Given the description of an element on the screen output the (x, y) to click on. 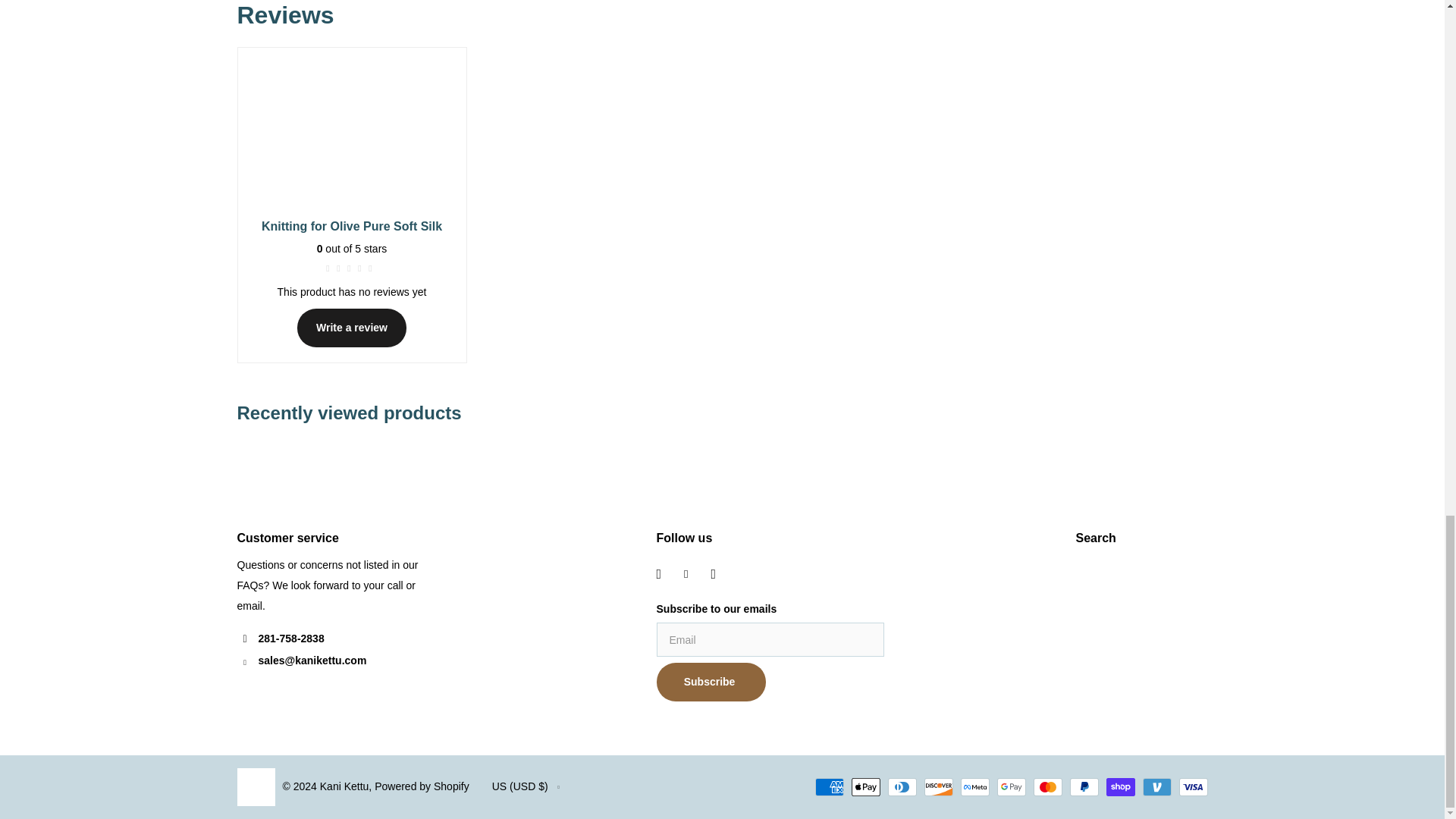
Meta Pay (973, 787)
Apple Pay (864, 787)
Discover (937, 787)
Mastercard (1046, 787)
Visa (1192, 787)
American Express (828, 787)
Google Pay (1010, 787)
Diners Club (900, 787)
PayPal (1082, 787)
Venmo (1155, 787)
